Given the description of an element on the screen output the (x, y) to click on. 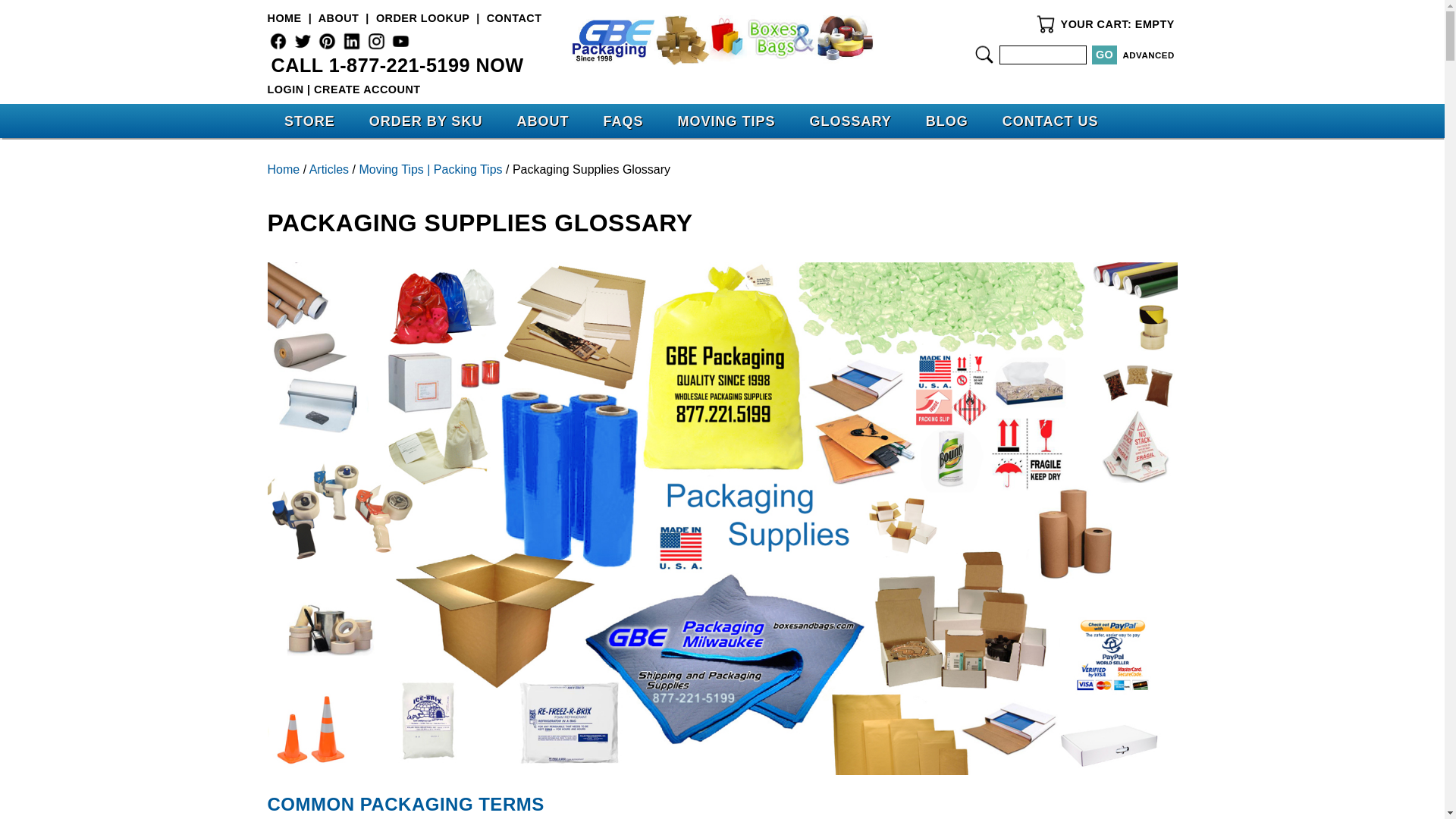
Your Cart (1045, 24)
YOUTUBE (401, 41)
Articles (328, 169)
PINTEREST (326, 41)
LINKEDIN (351, 41)
CONTACT (513, 18)
TWITTER (303, 41)
Go (1104, 54)
FACEBOOK (277, 41)
Search (983, 54)
Articles (328, 169)
Home (721, 40)
ADVANCED (1147, 54)
Your Cart (1045, 24)
Twitter (303, 41)
